Given the description of an element on the screen output the (x, y) to click on. 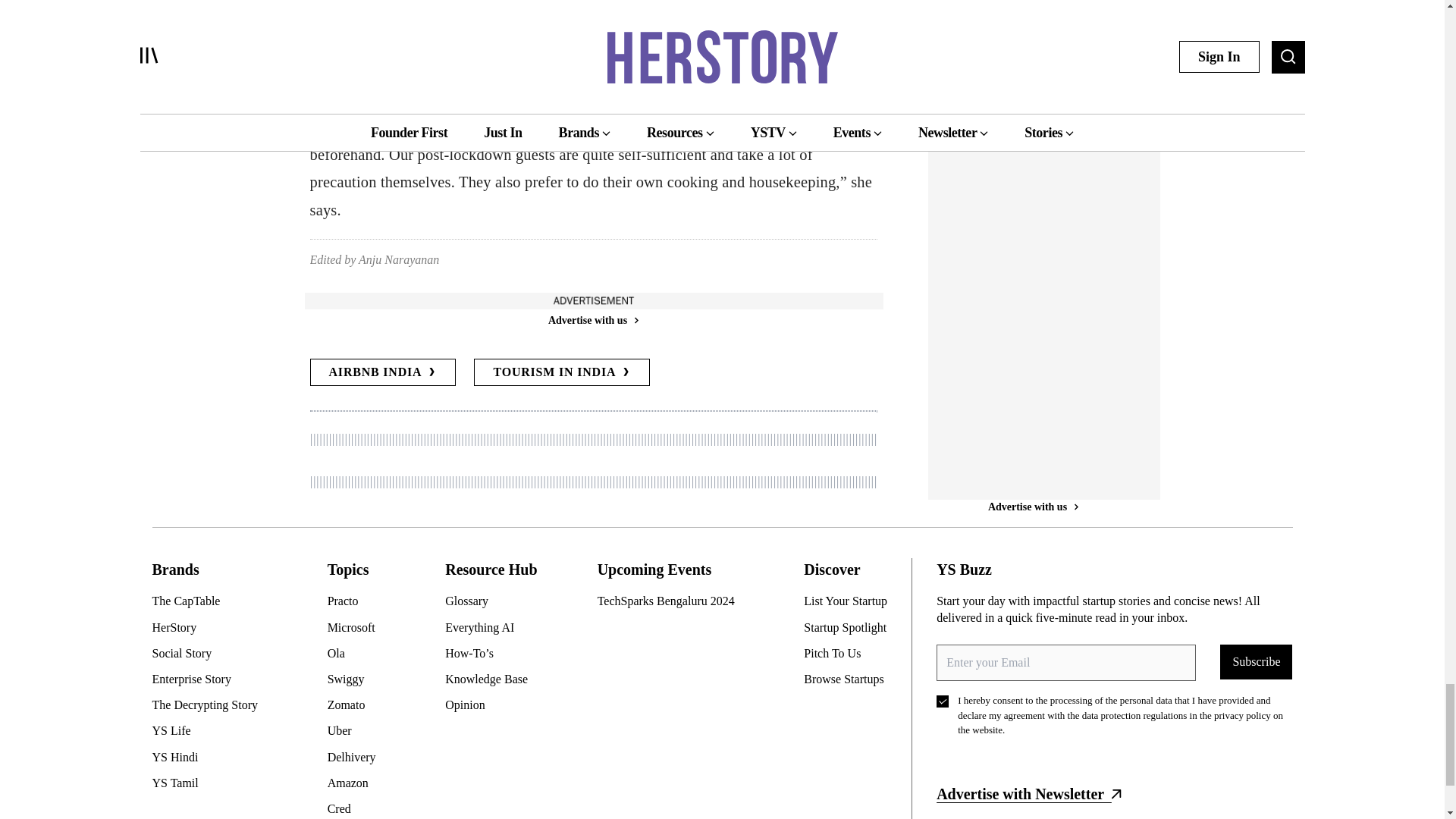
AIRBNB INDIA (381, 371)
Social Story (210, 653)
Enterprise Story (210, 678)
HerStory (210, 627)
TOURISM IN INDIA (561, 371)
The CapTable (210, 600)
Advertise with us (592, 320)
